Given the description of an element on the screen output the (x, y) to click on. 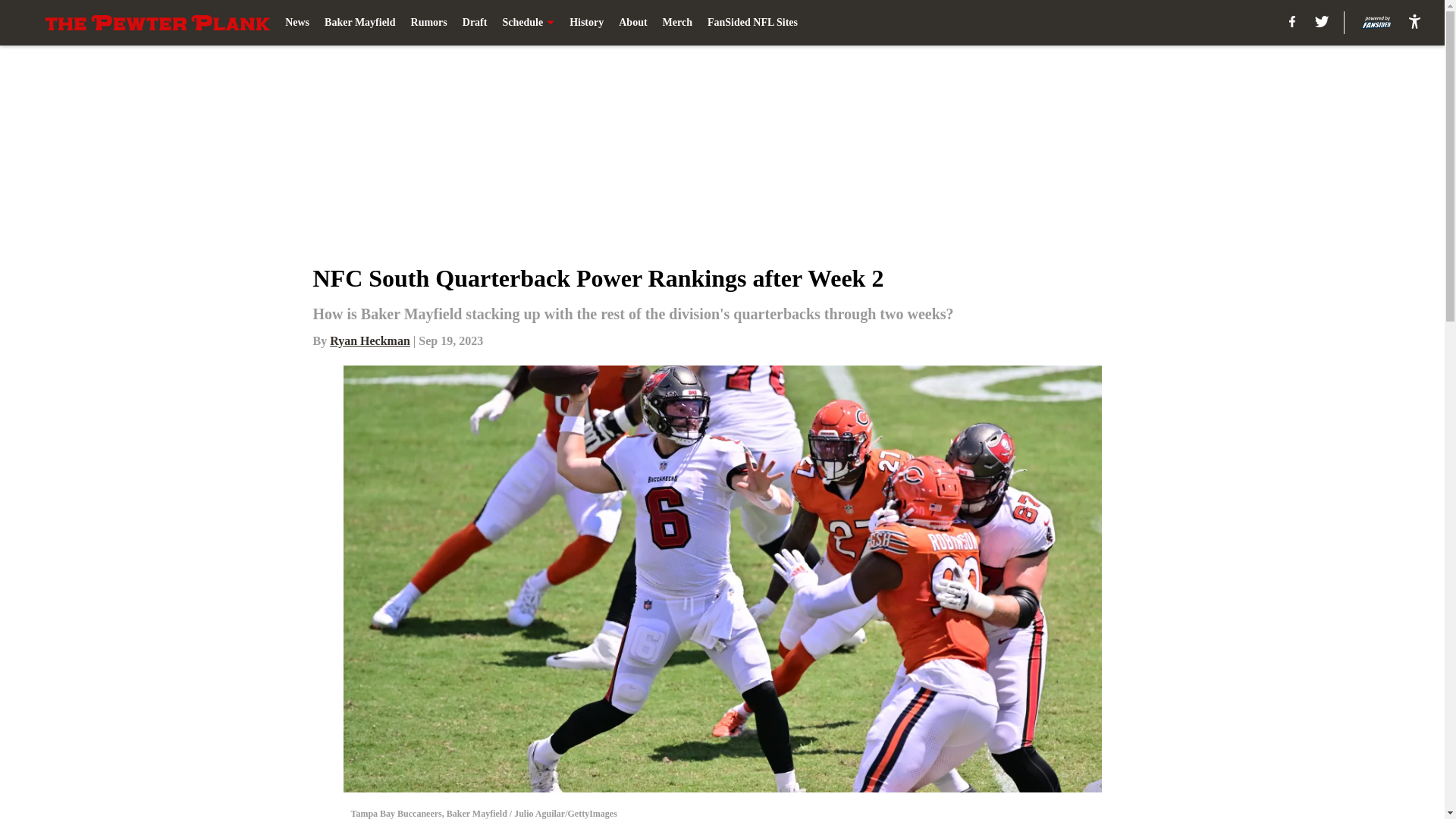
Draft (475, 22)
FanSided NFL Sites (752, 22)
Merch (677, 22)
Rumors (428, 22)
About (632, 22)
History (586, 22)
News (296, 22)
Baker Mayfield (359, 22)
Ryan Heckman (370, 340)
